Given the description of an element on the screen output the (x, y) to click on. 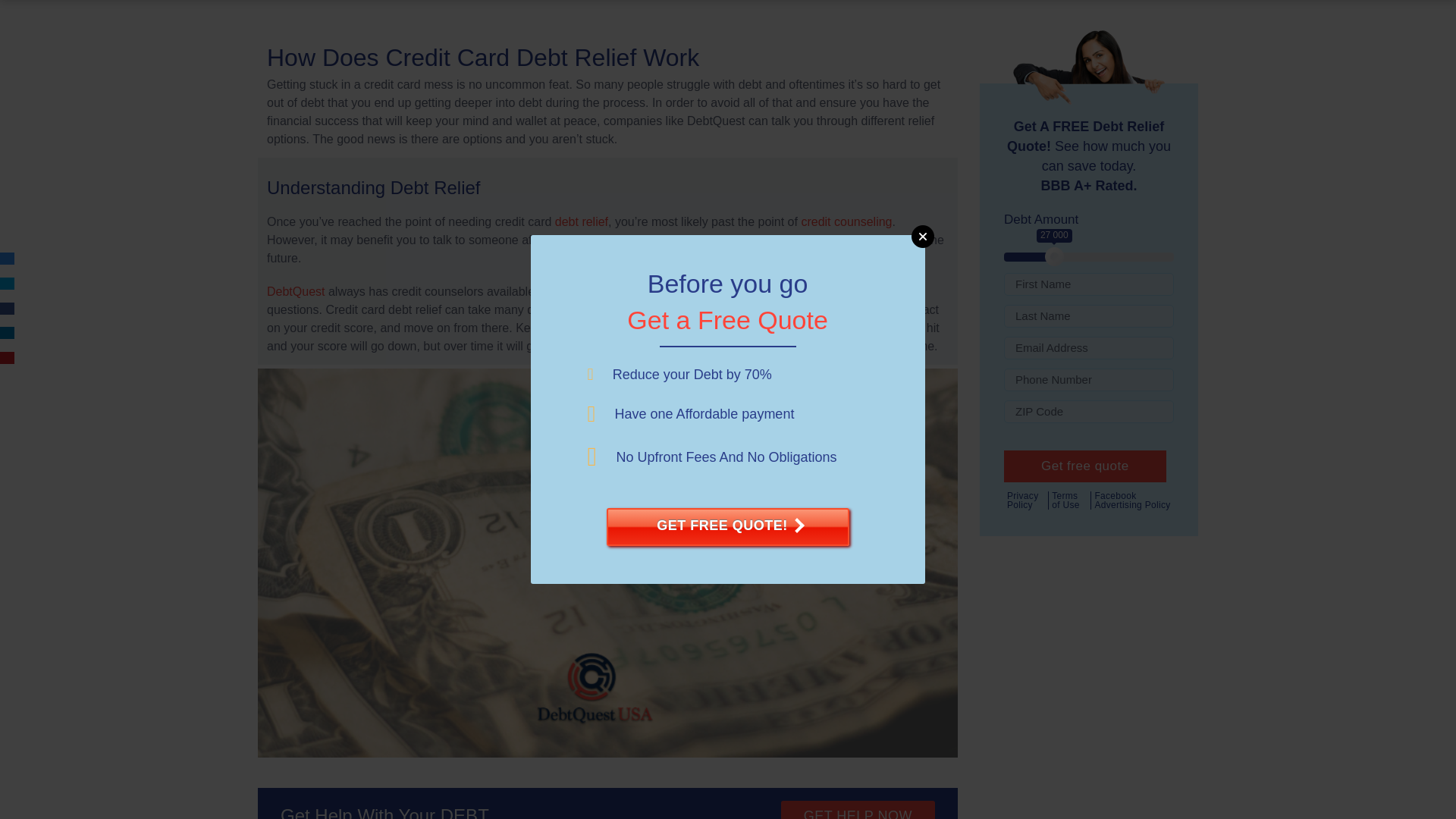
Customer reviews powered by Trustpilot (607, 11)
